Given the description of an element on the screen output the (x, y) to click on. 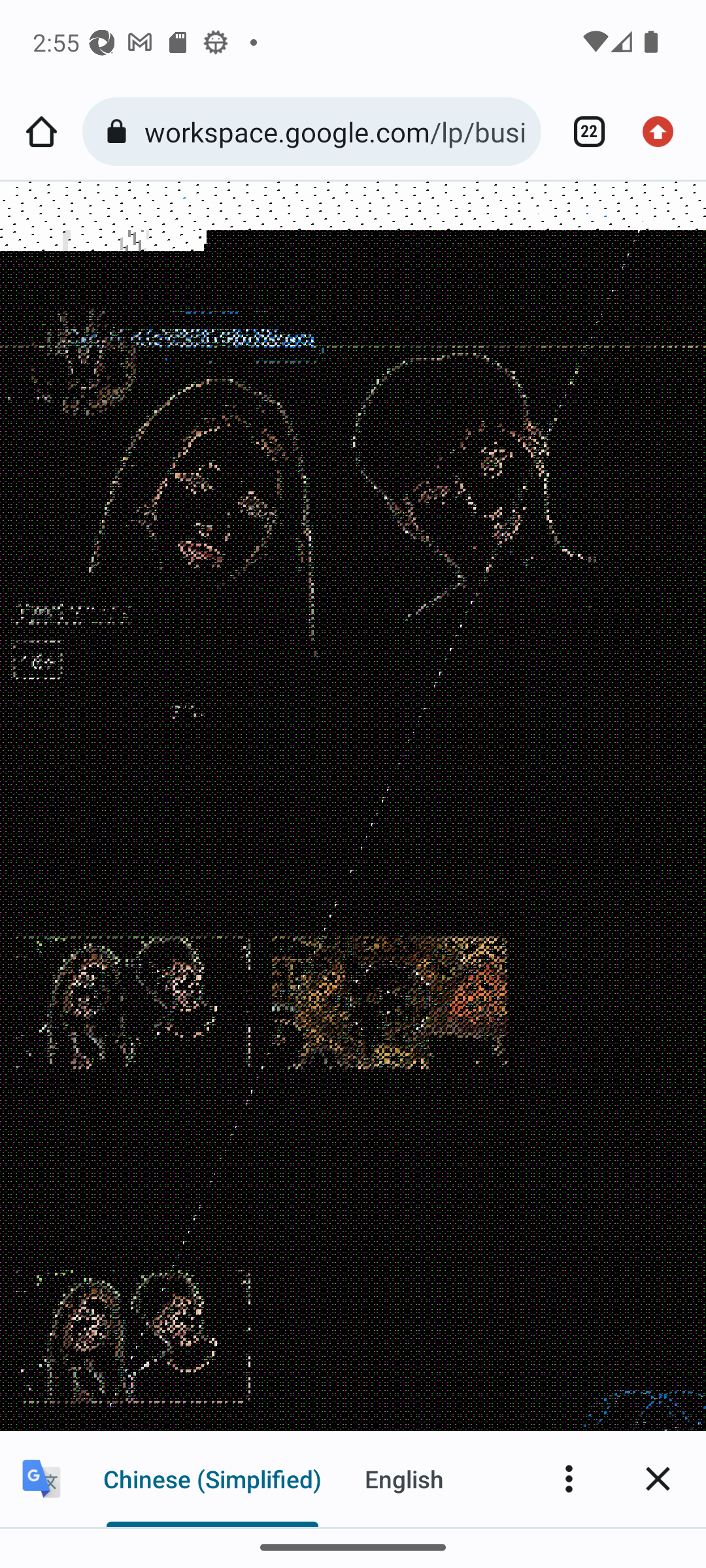
Home (41, 131)
Connection is secure (120, 131)
Switch or close tabs (582, 131)
Update available. More options (664, 131)
English (403, 1478)
More options (568, 1478)
Close (657, 1478)
